Given the description of an element on the screen output the (x, y) to click on. 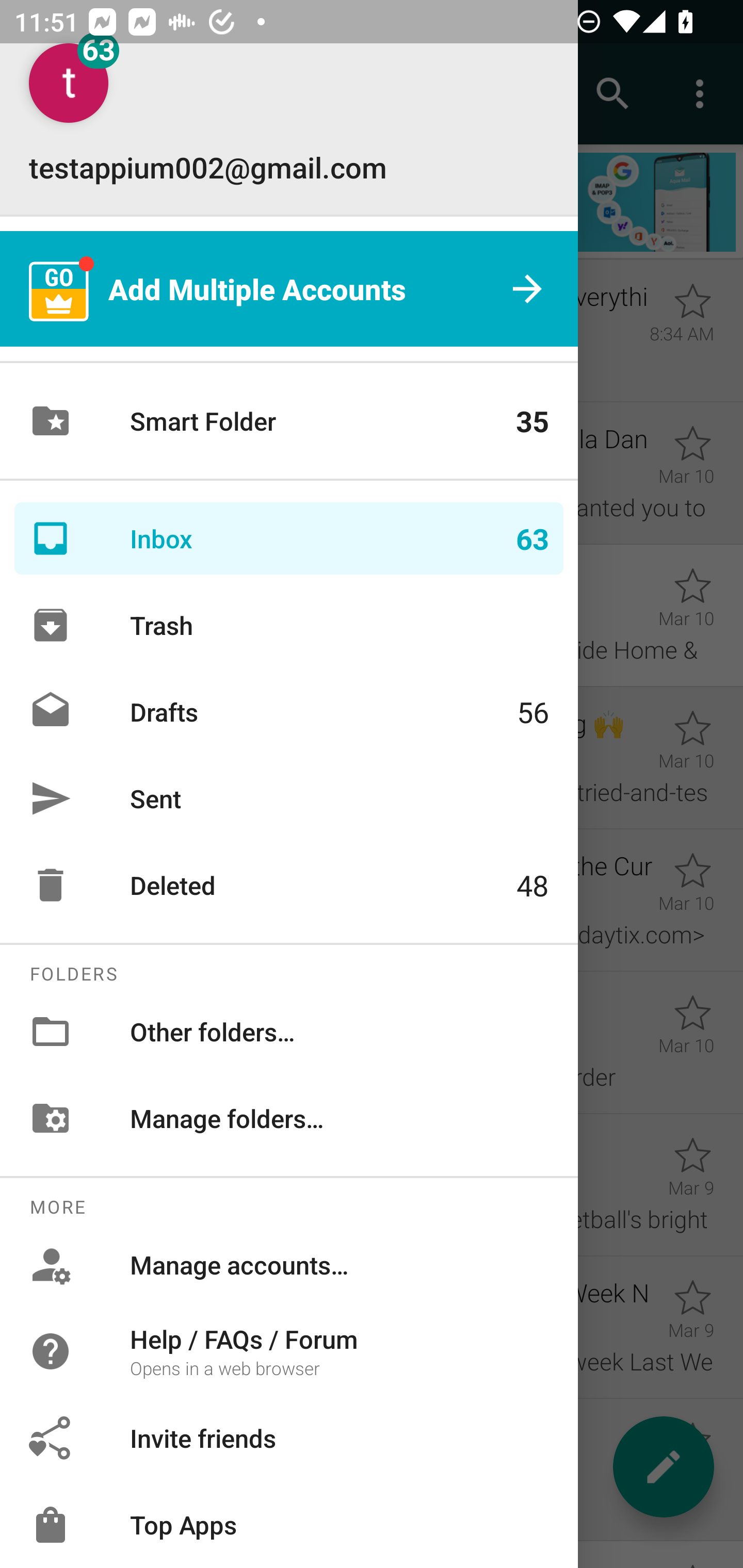
testappium002@gmail.com (289, 114)
Add Multiple Accounts (289, 288)
Smart Folder 35 (289, 420)
Inbox 63 (289, 538)
Trash (289, 624)
Drafts 56 (289, 711)
Sent (289, 798)
Deleted 48 (289, 885)
Other folders… (289, 1031)
Manage folders… (289, 1118)
Manage accounts… (289, 1264)
Help / FAQs / Forum Opens in a web browser (289, 1350)
Invite friends (289, 1437)
Top Apps (289, 1524)
